Given the description of an element on the screen output the (x, y) to click on. 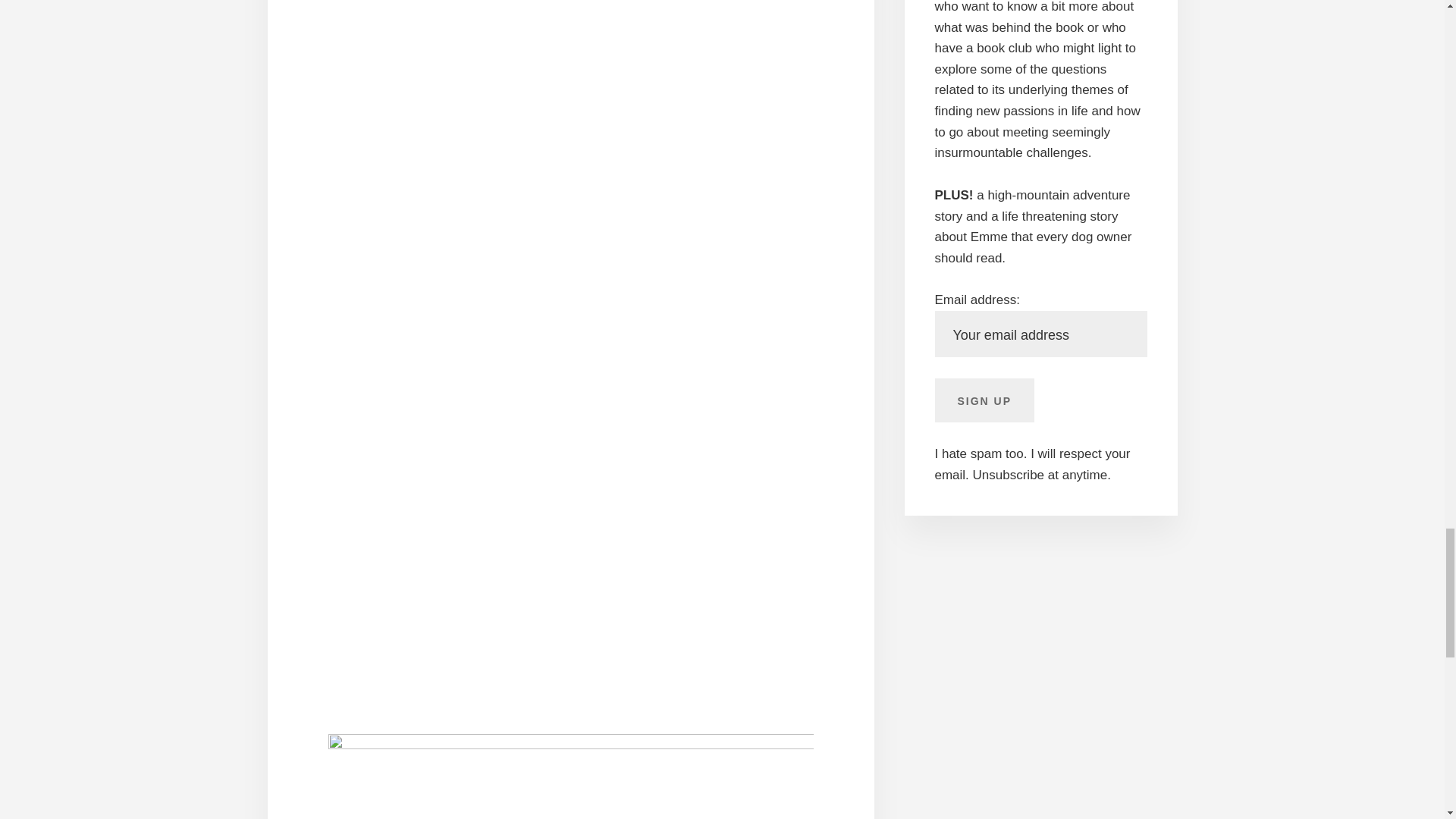
Sign up (983, 400)
